Given the description of an element on the screen output the (x, y) to click on. 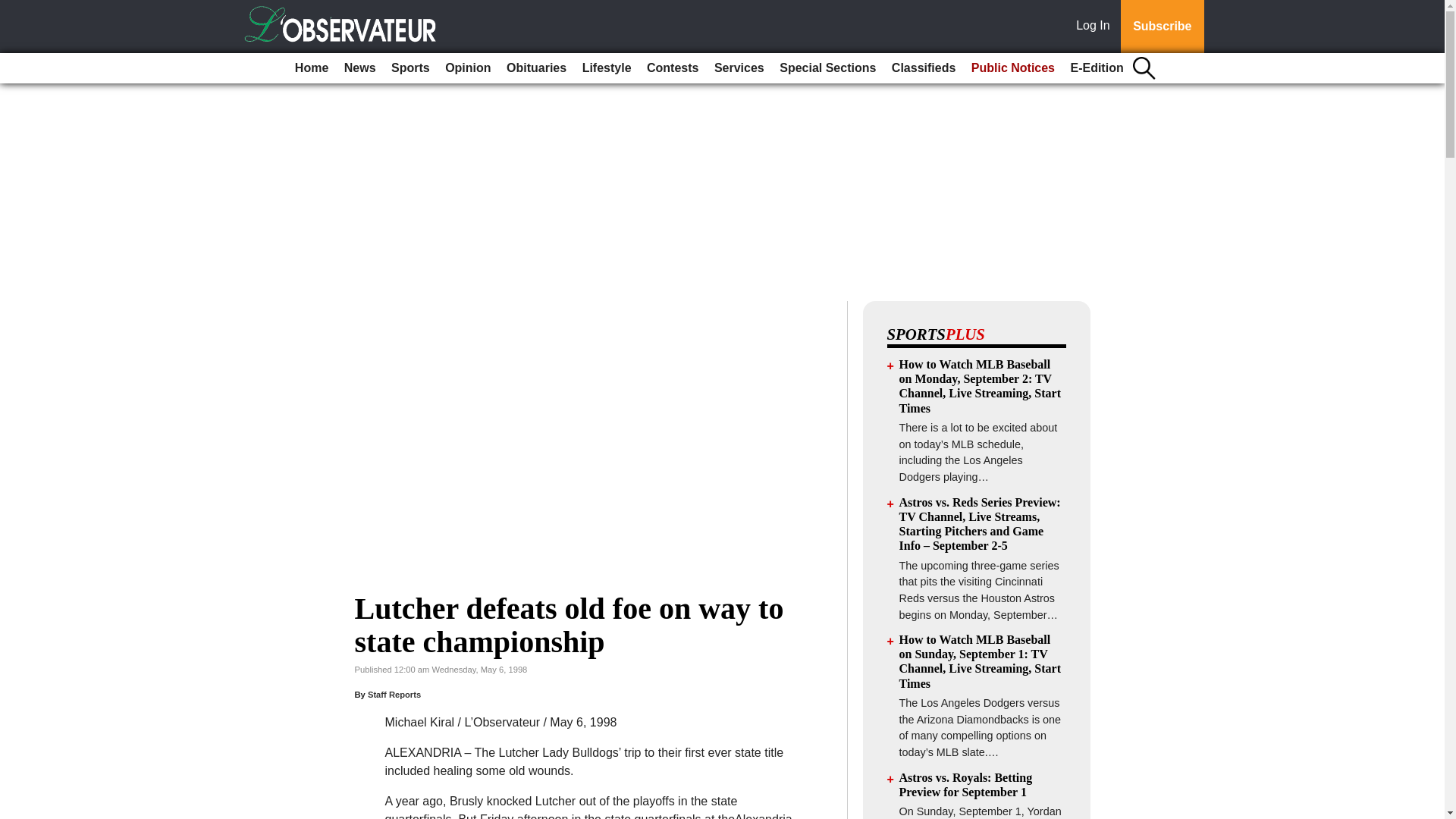
Lifestyle (606, 68)
News (359, 68)
Obituaries (536, 68)
Astros vs. Royals: Betting Preview for September 1 (965, 784)
Home (311, 68)
Public Notices (1013, 68)
Classifieds (922, 68)
Sports (410, 68)
